Given the description of an element on the screen output the (x, y) to click on. 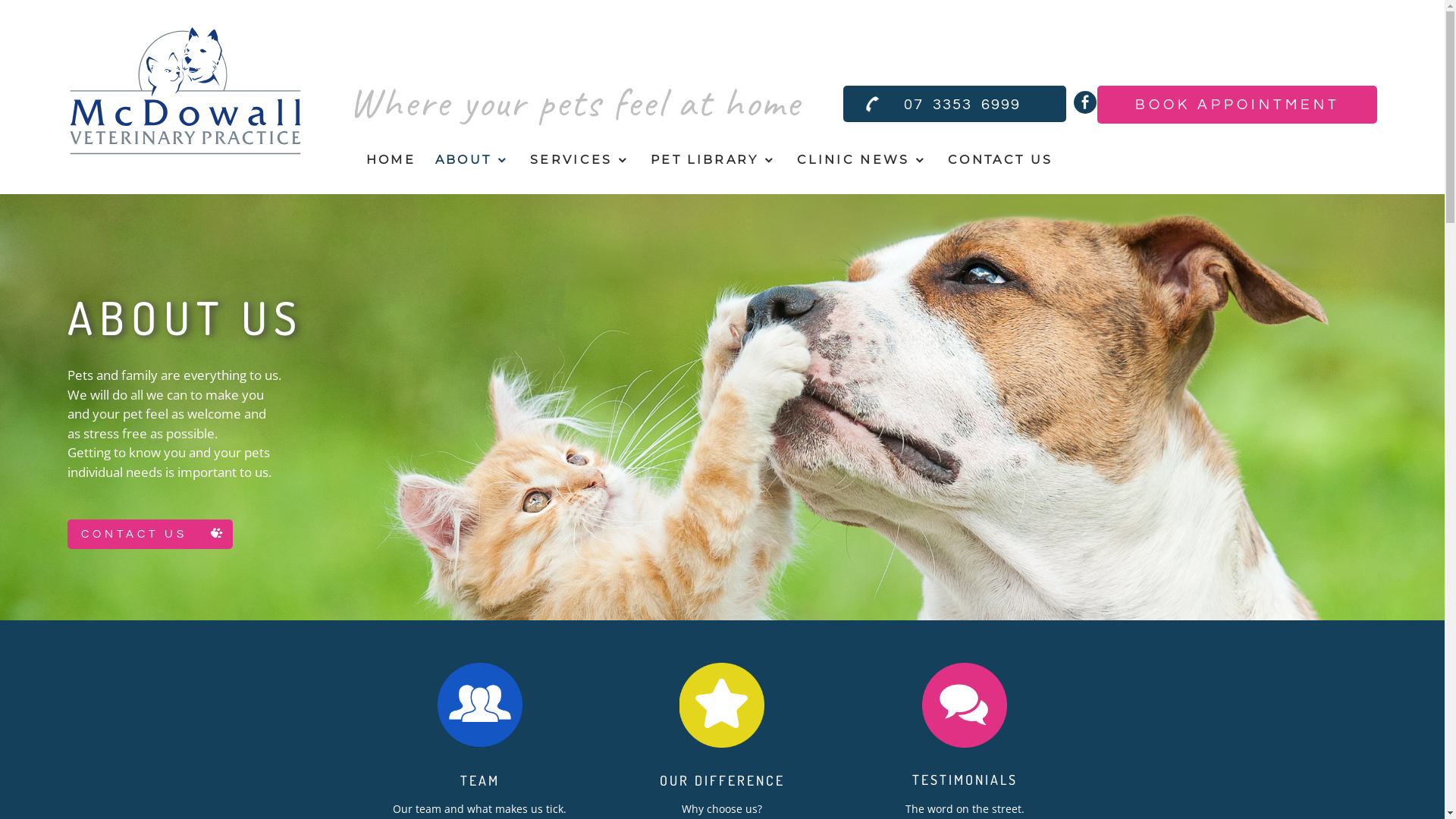
CONTACT US Element type: text (1000, 160)
ABOUT Element type: text (472, 160)
Return to homepage Element type: hover (185, 94)
HOME Element type: text (390, 160)
BOOK APPOINTMENT Element type: text (1237, 103)
CONTACT US Element type: text (149, 534)
PET LIBRARY Element type: text (713, 160)
CLINIC NEWS Element type: text (862, 160)
SERVICES Element type: text (580, 160)
07 3353 6999 Element type: text (954, 103)
